Given the description of an element on the screen output the (x, y) to click on. 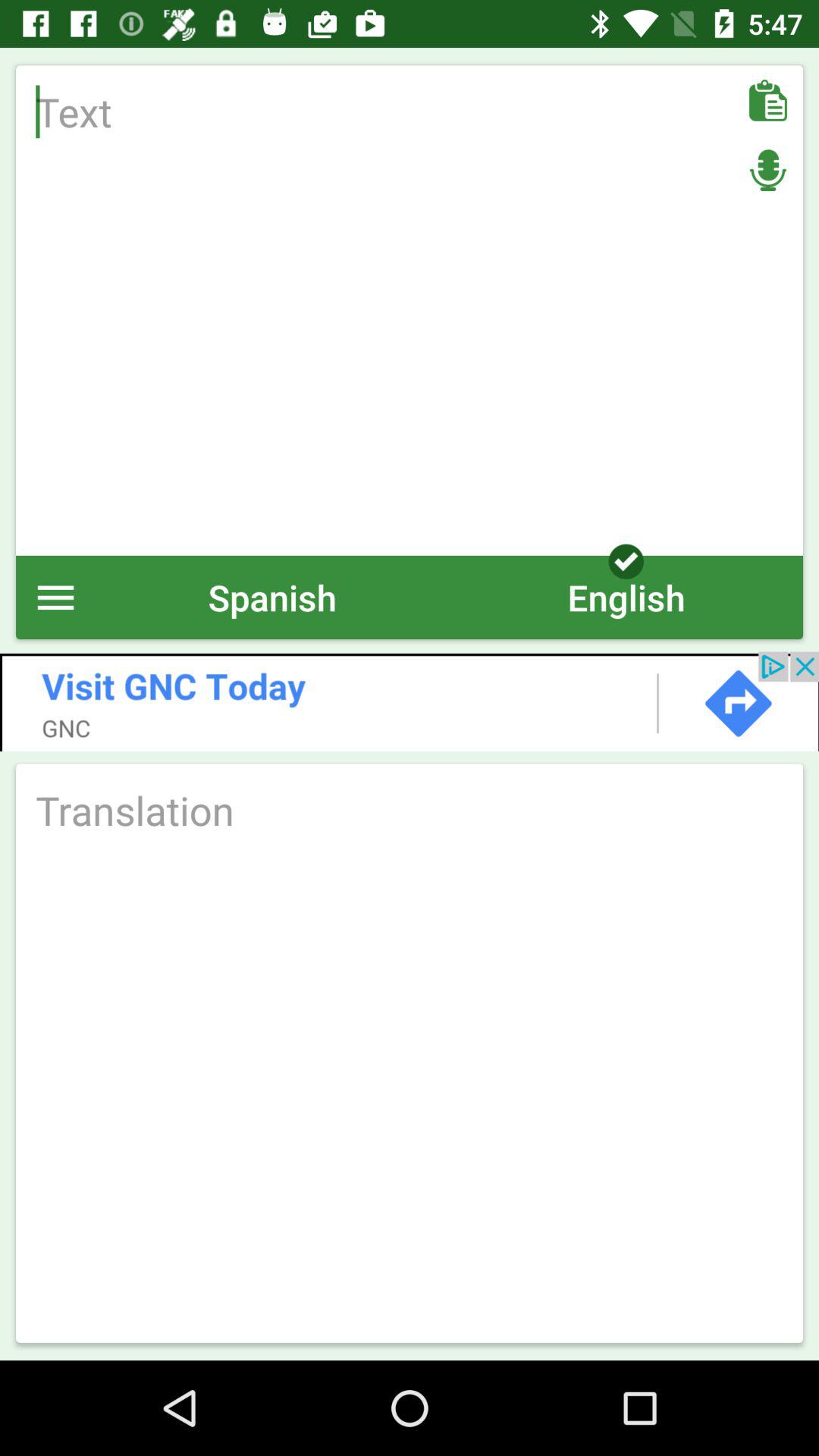
select advertisement (409, 701)
